Given the description of an element on the screen output the (x, y) to click on. 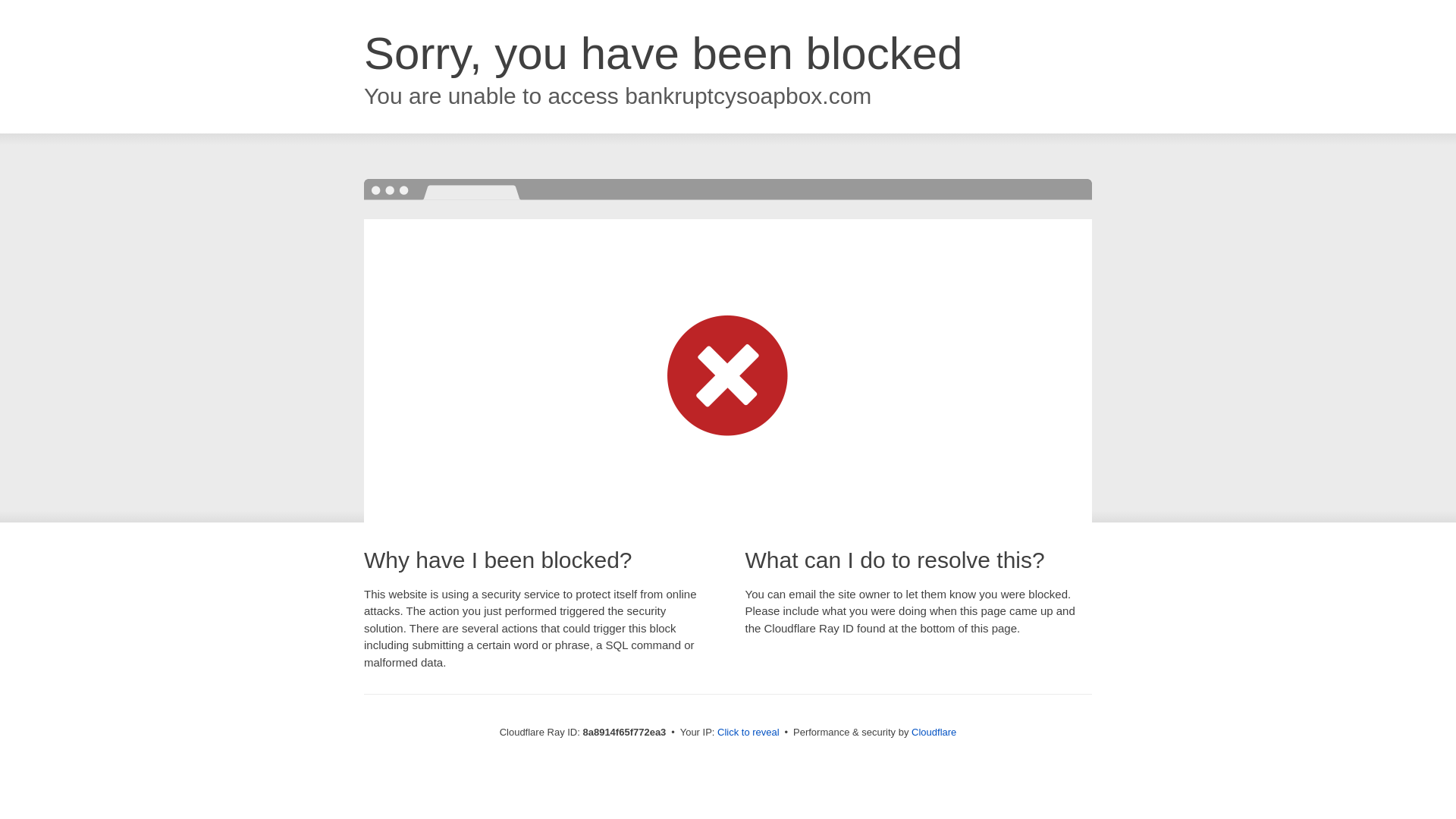
Click to reveal (747, 732)
Cloudflare (933, 731)
